Given the description of an element on the screen output the (x, y) to click on. 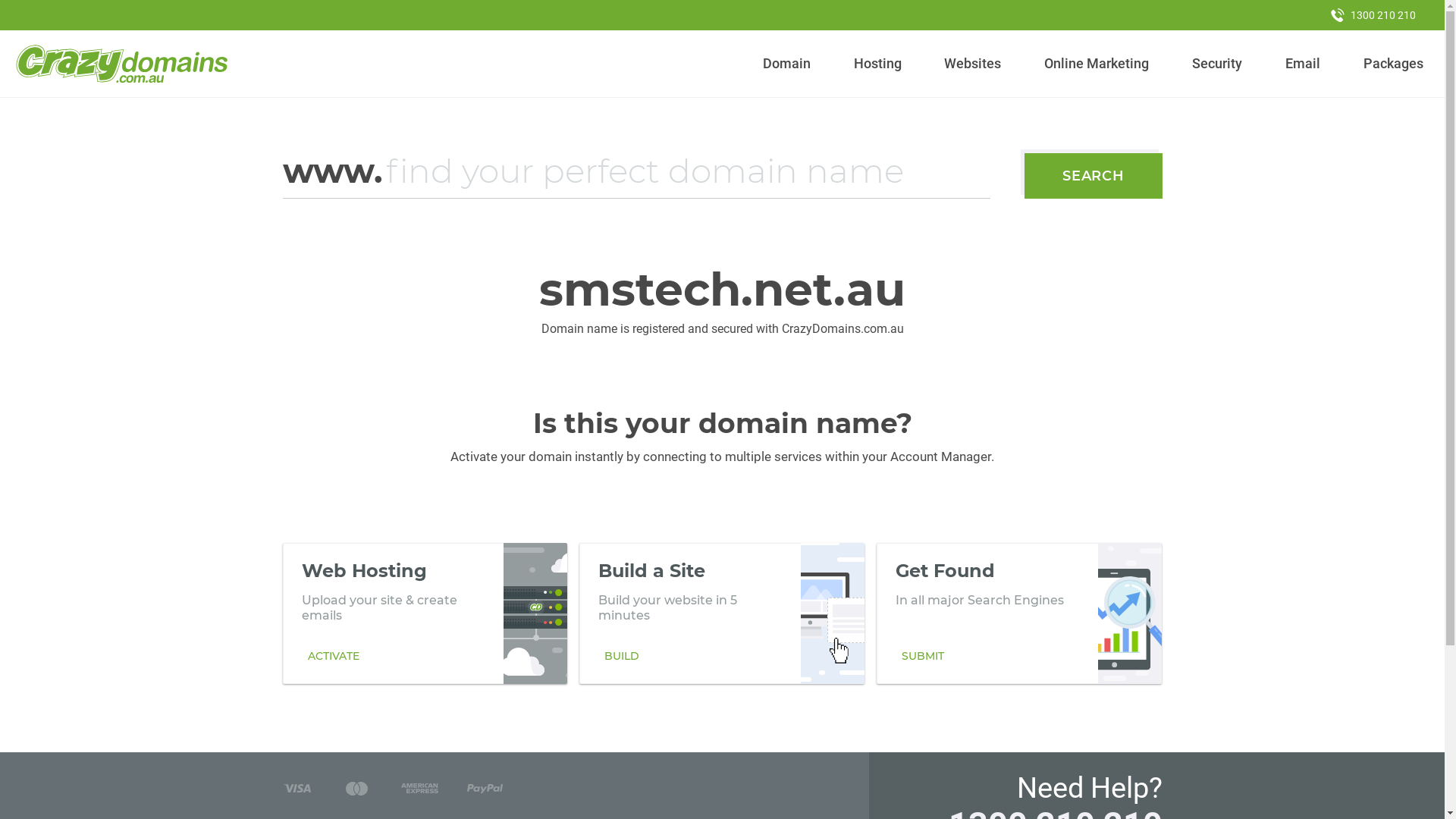
Websites Element type: text (972, 63)
Web Hosting
Upload your site & create emails
ACTIVATE Element type: text (424, 613)
Online Marketing Element type: text (1096, 63)
SEARCH Element type: text (1092, 175)
Email Element type: text (1302, 63)
Build a Site
Build your website in 5 minutes
BUILD Element type: text (721, 613)
Security Element type: text (1217, 63)
Domain Element type: text (786, 63)
Hosting Element type: text (877, 63)
Packages Element type: text (1392, 63)
1300 210 210 Element type: text (1373, 15)
Get Found
In all major Search Engines
SUBMIT Element type: text (1018, 613)
